Given the description of an element on the screen output the (x, y) to click on. 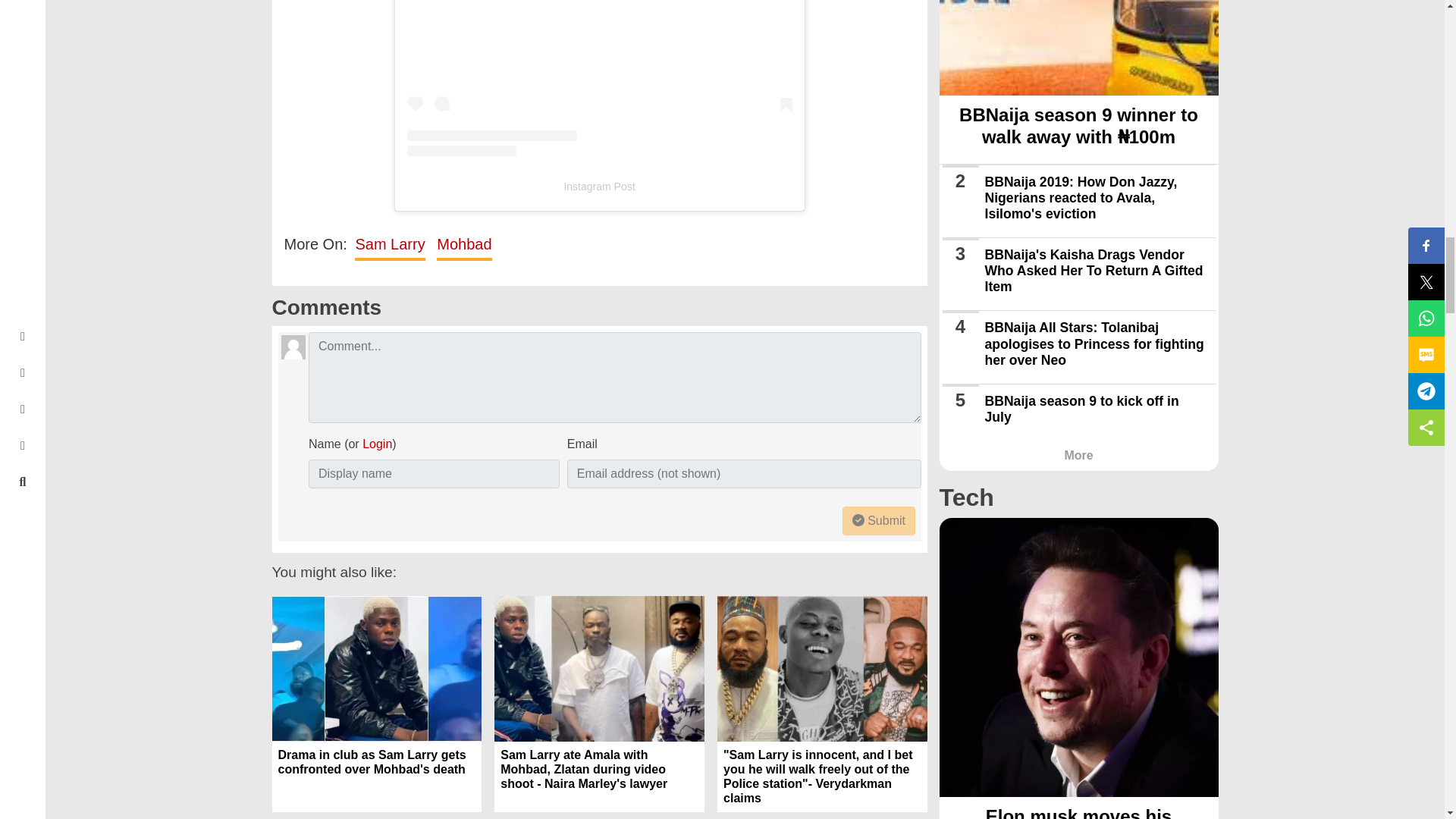
Sam Larry (390, 243)
Mohbad (464, 243)
View this post on Instagram (599, 78)
Instagram Post (598, 186)
